Given the description of an element on the screen output the (x, y) to click on. 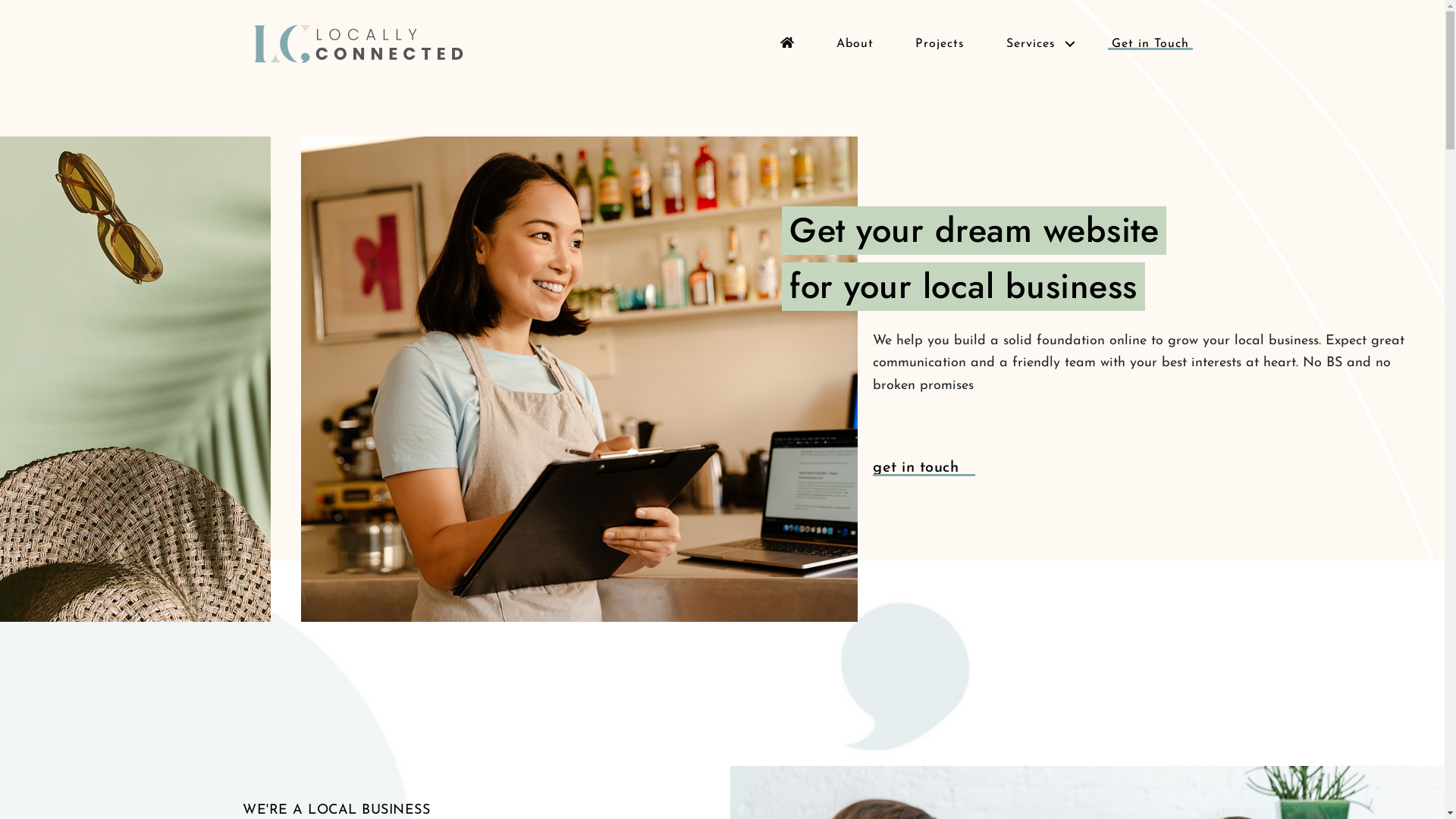
Get in Touch Element type: text (1149, 40)
Projects Element type: text (939, 43)
About Element type: text (854, 43)
get in touch Element type: text (915, 467)
Services Element type: text (1041, 43)
lc-logo.svg Element type: hover (357, 43)
